Given the description of an element on the screen output the (x, y) to click on. 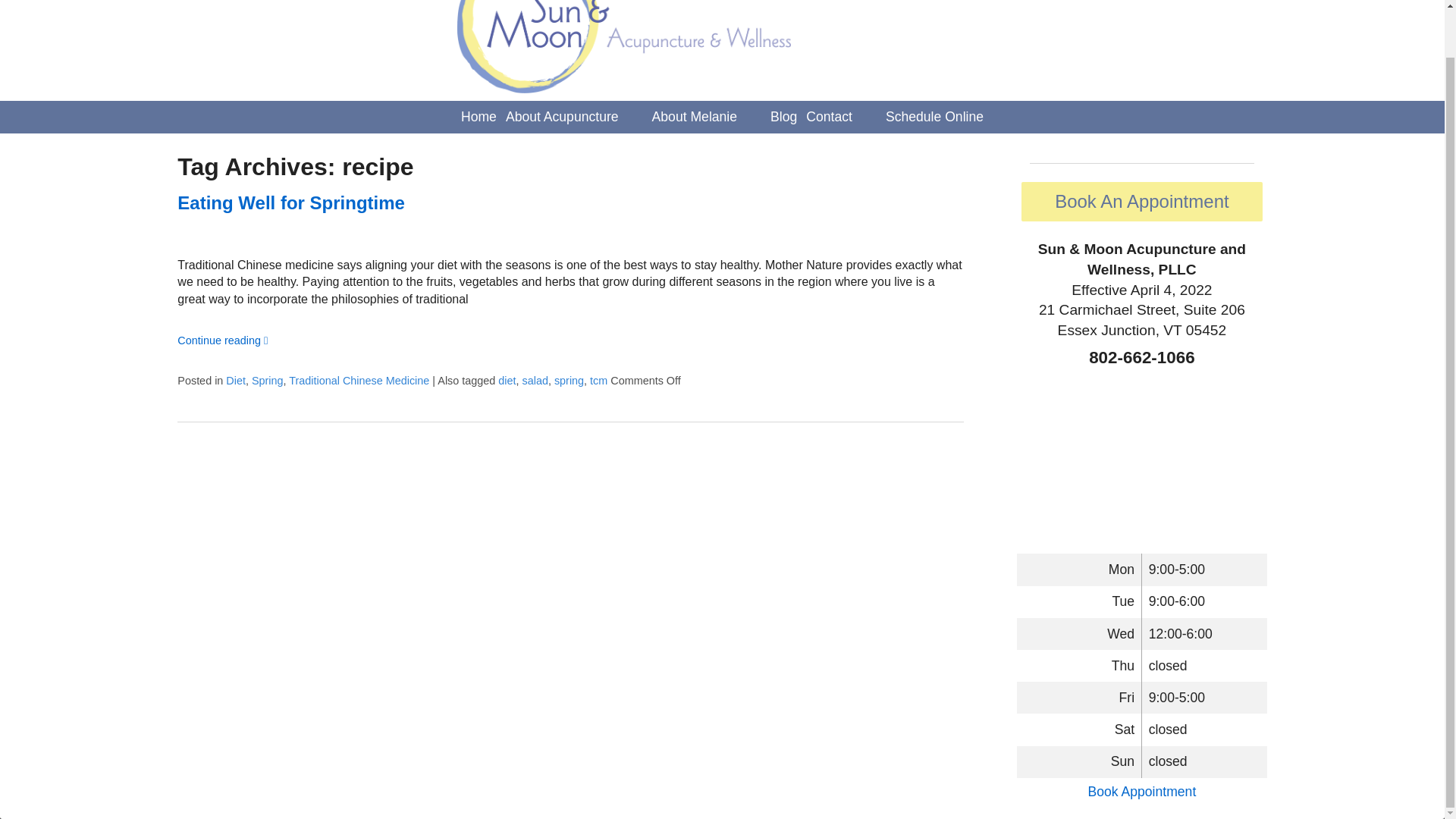
diet (506, 380)
Book An Appointment (1142, 201)
spring (568, 380)
salad (534, 380)
Contact (829, 116)
Online Scheduling (1141, 791)
Diet (235, 380)
About Melanie (694, 116)
Schedule Online (934, 116)
Traditional Chinese Medicine (358, 380)
About Acupuncture (561, 116)
Read (290, 202)
Continue reading (222, 340)
Blog (783, 116)
Book Appointment (1141, 791)
